Given the description of an element on the screen output the (x, y) to click on. 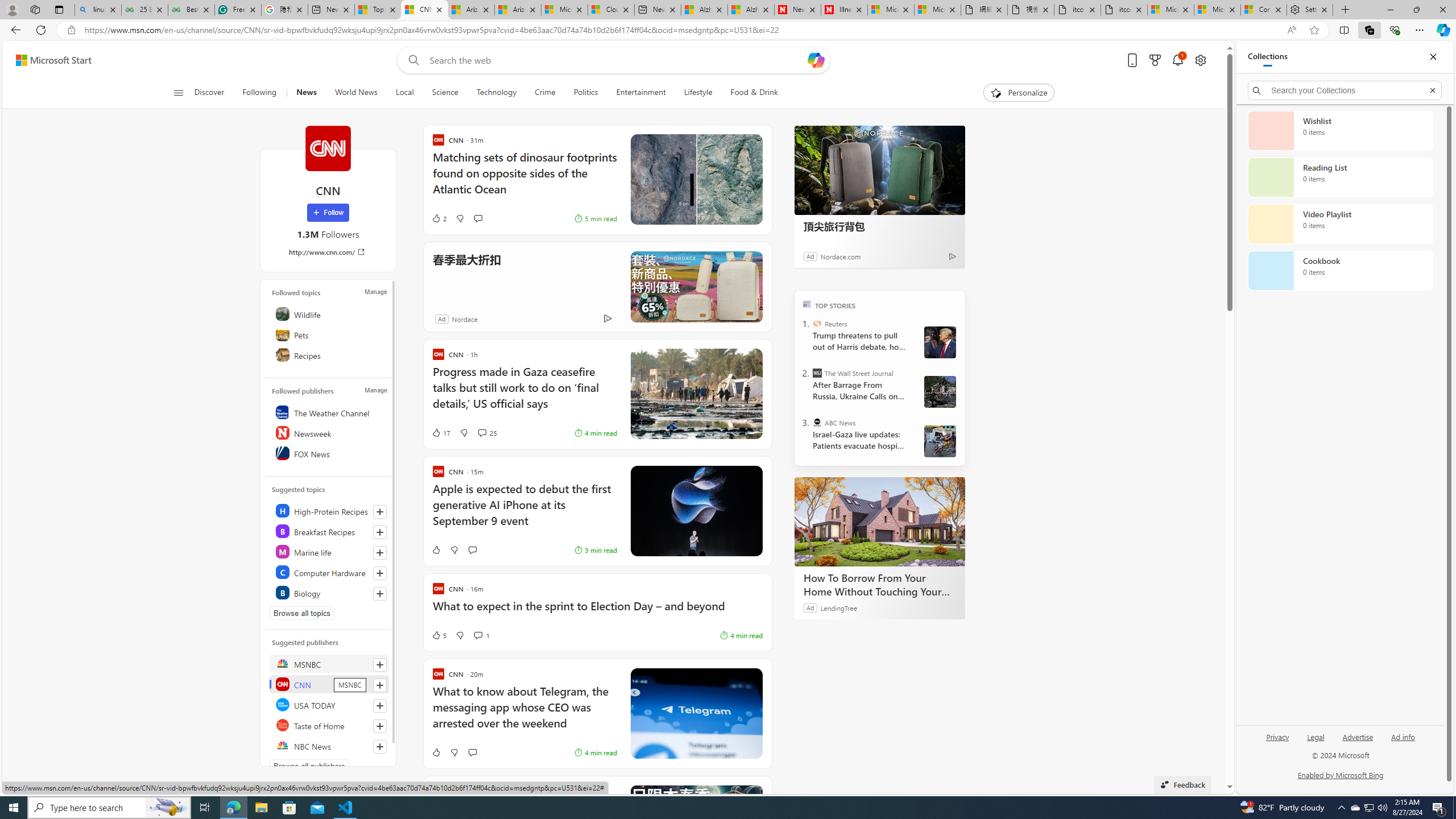
Taste of Home (328, 724)
Like (435, 752)
The Weather Channel (328, 411)
CNN (327, 148)
25 Basic Linux Commands For Beginners - GeeksforGeeks (144, 9)
Recipes (328, 354)
